Given the description of an element on the screen output the (x, y) to click on. 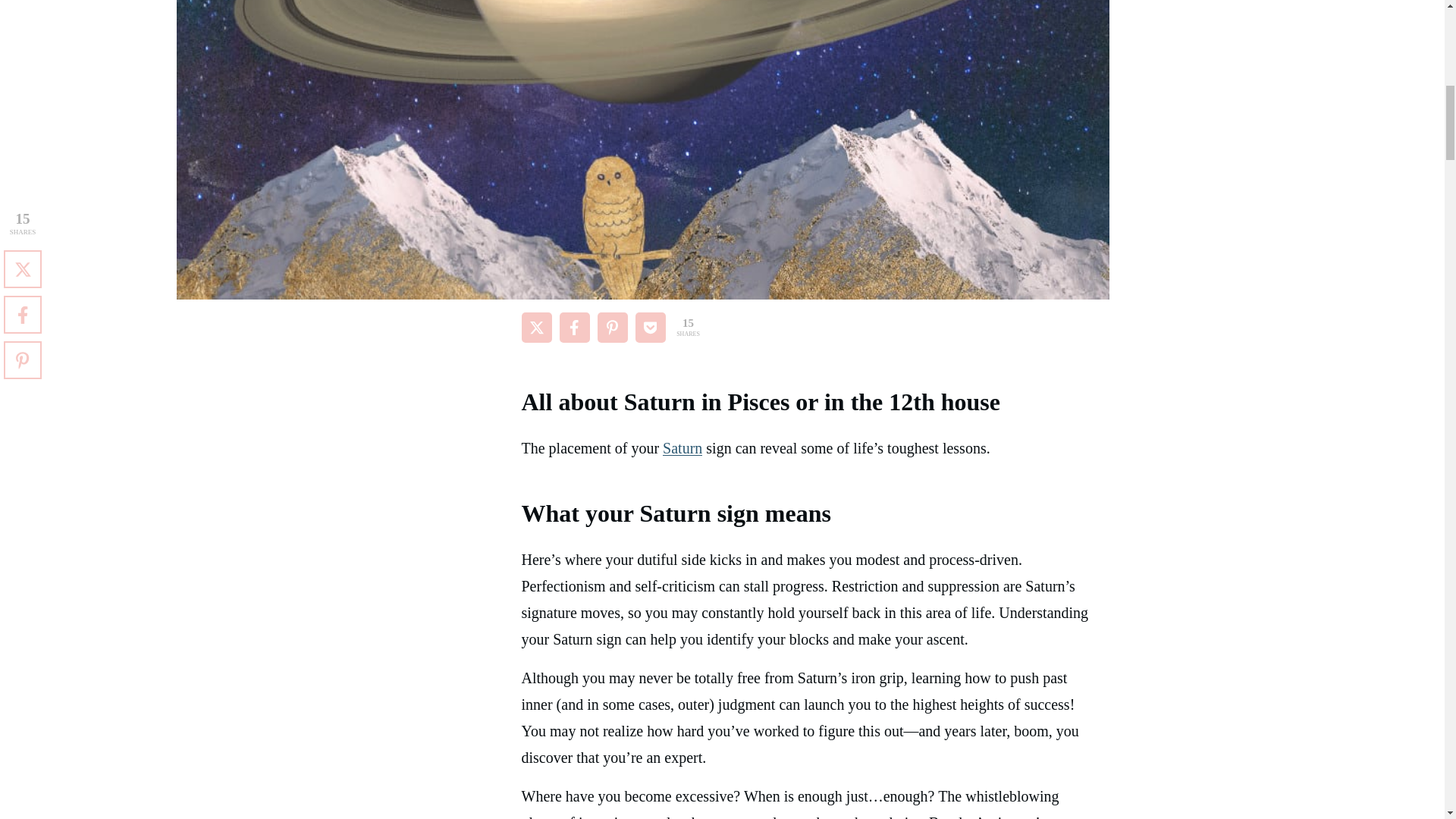
Scroll back to top (1406, 720)
